Given the description of an element on the screen output the (x, y) to click on. 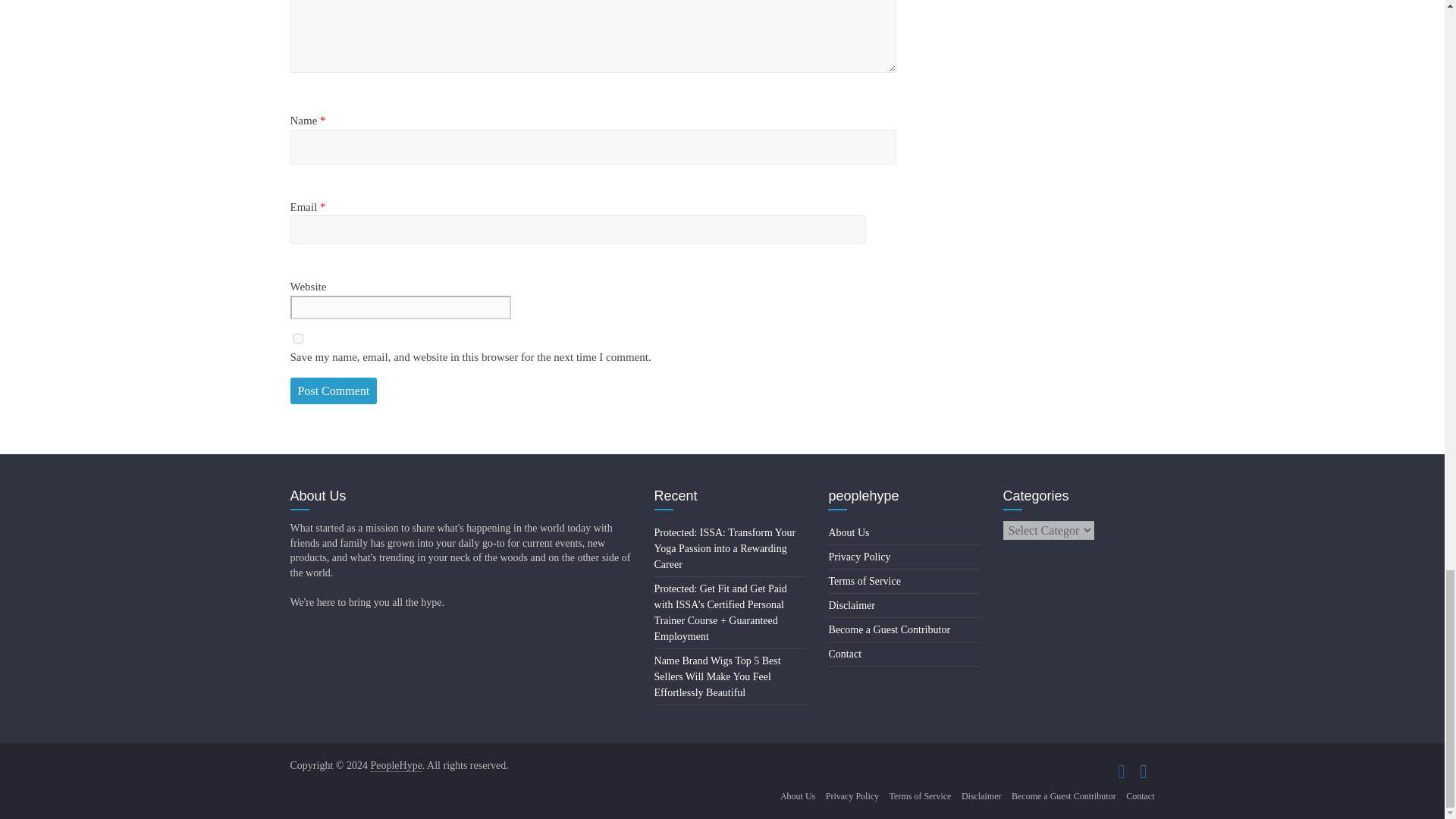
yes (297, 338)
Post Comment (333, 390)
Post Comment (333, 390)
